Given the description of an element on the screen output the (x, y) to click on. 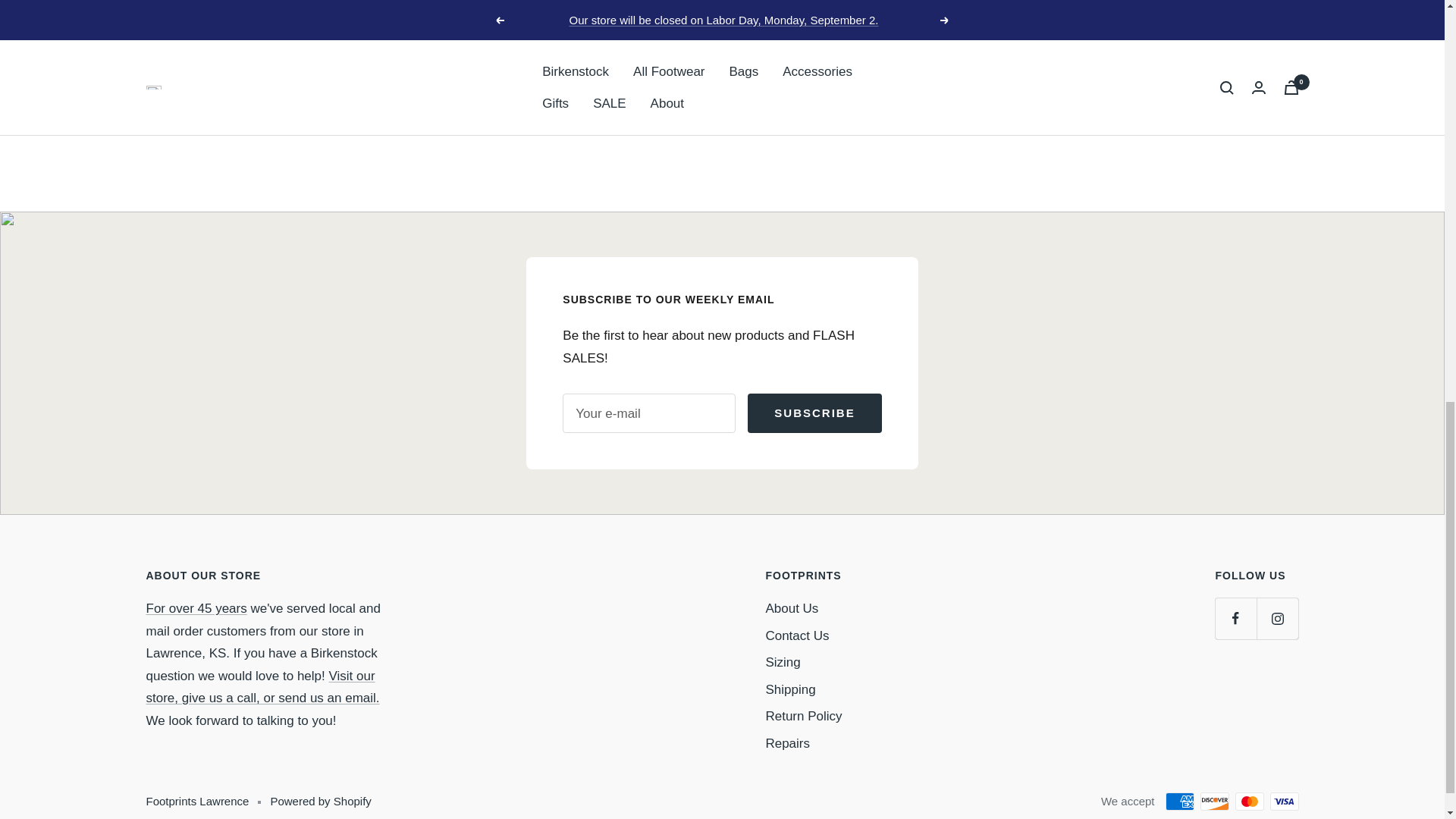
Contact Us (261, 687)
About Us (195, 608)
